Given the description of an element on the screen output the (x, y) to click on. 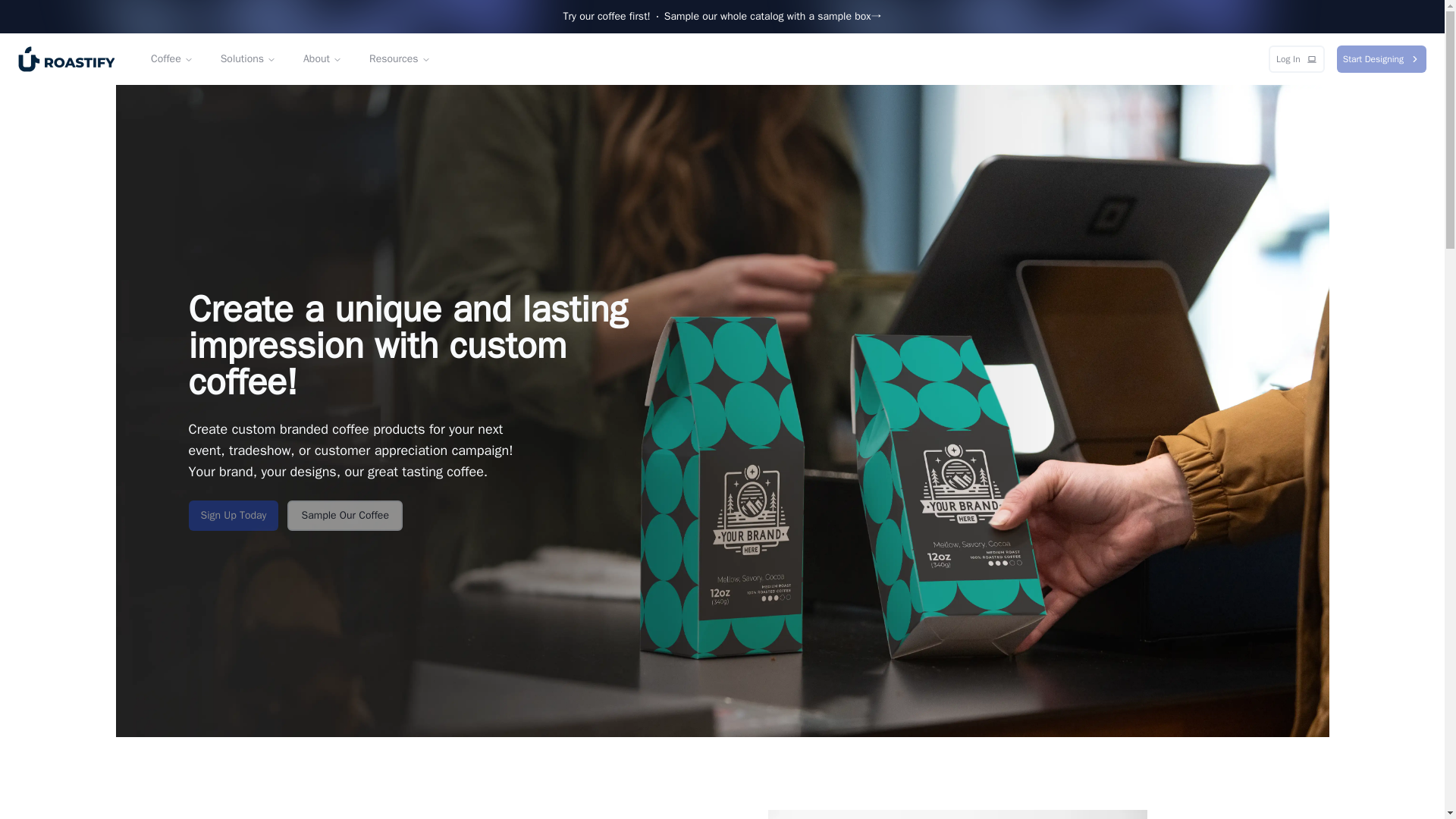
About (322, 58)
Start Designing (1381, 58)
Solutions (248, 58)
Coffee (171, 58)
Sign Up Today (232, 515)
Resources (399, 58)
Sample Our Coffee (343, 515)
Log In (1296, 58)
